Given the description of an element on the screen output the (x, y) to click on. 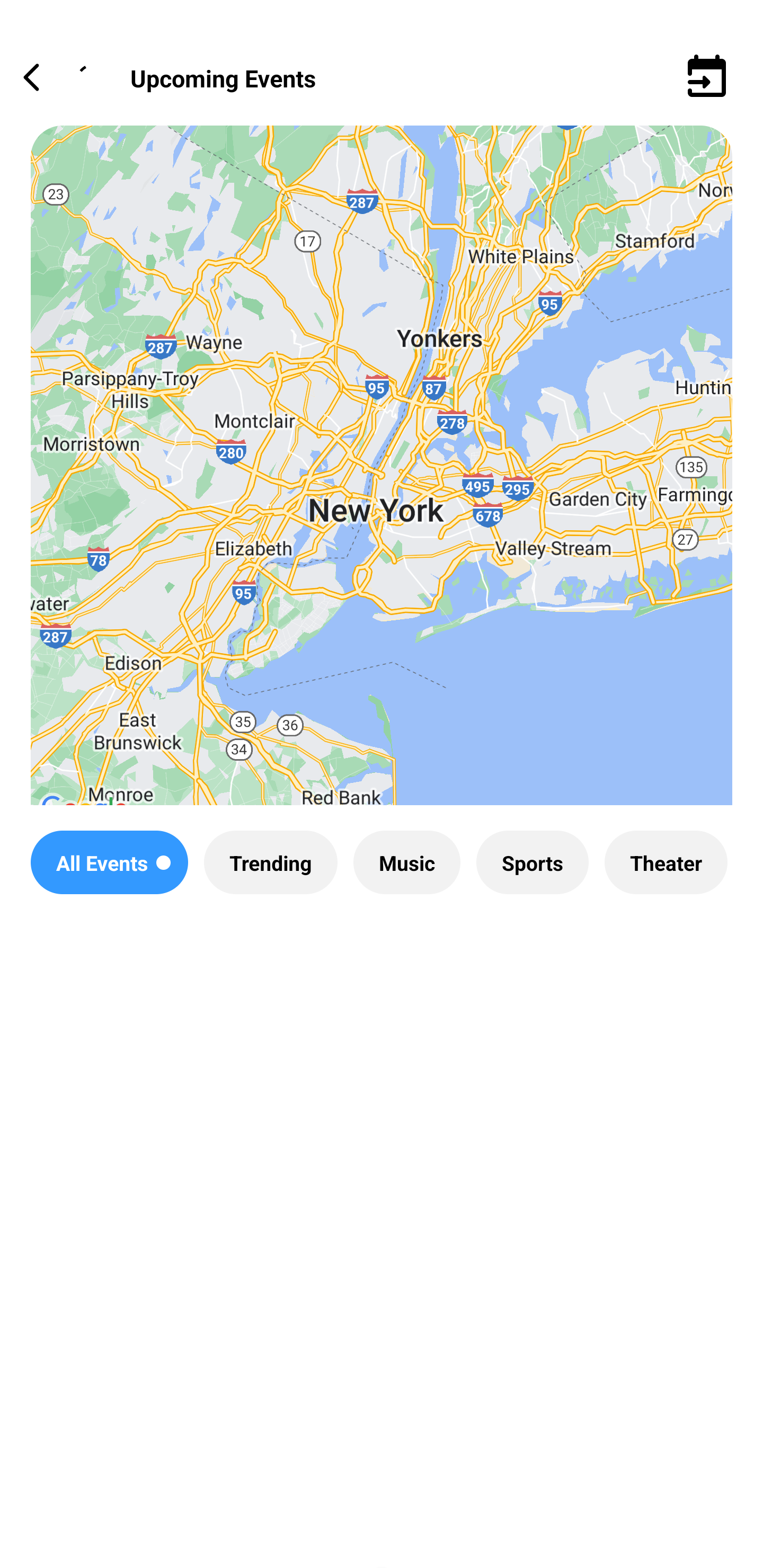
Google Map (381, 480)
All Events (109, 862)
Trending (270, 862)
Music (406, 862)
Sports (532, 862)
Theater (665, 862)
